Given the description of an element on the screen output the (x, y) to click on. 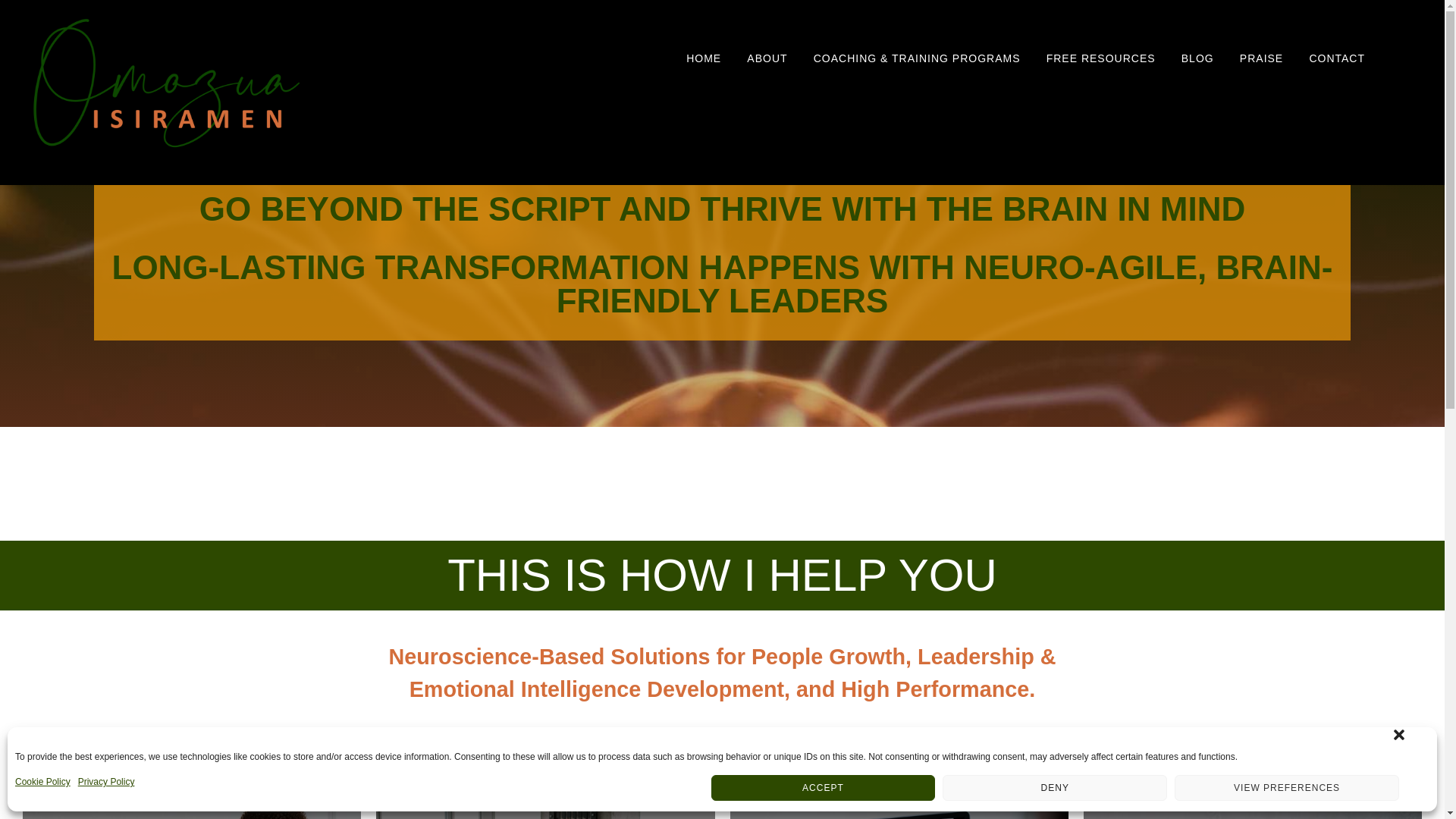
DENY (1054, 787)
Omozua (166, 144)
VIEW PREFERENCES (1286, 787)
ABOUT (766, 58)
Cookie Policy (41, 787)
Privacy Policy (106, 787)
PRAISE (1261, 58)
HOME (703, 58)
ACCEPT (823, 787)
FREE RESOURCES (1101, 58)
BLOG (1197, 58)
